Given the description of an element on the screen output the (x, y) to click on. 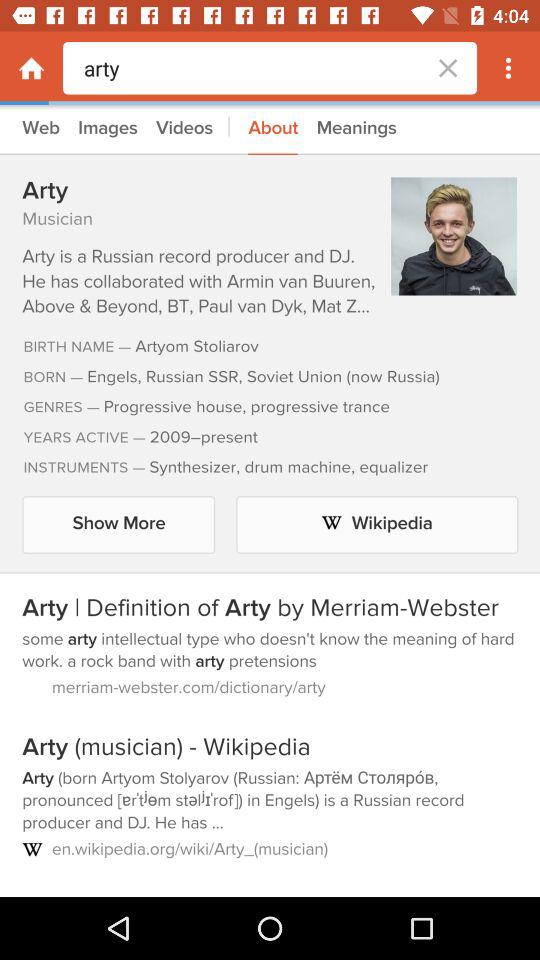
go to the main screen (31, 68)
